Given the description of an element on the screen output the (x, y) to click on. 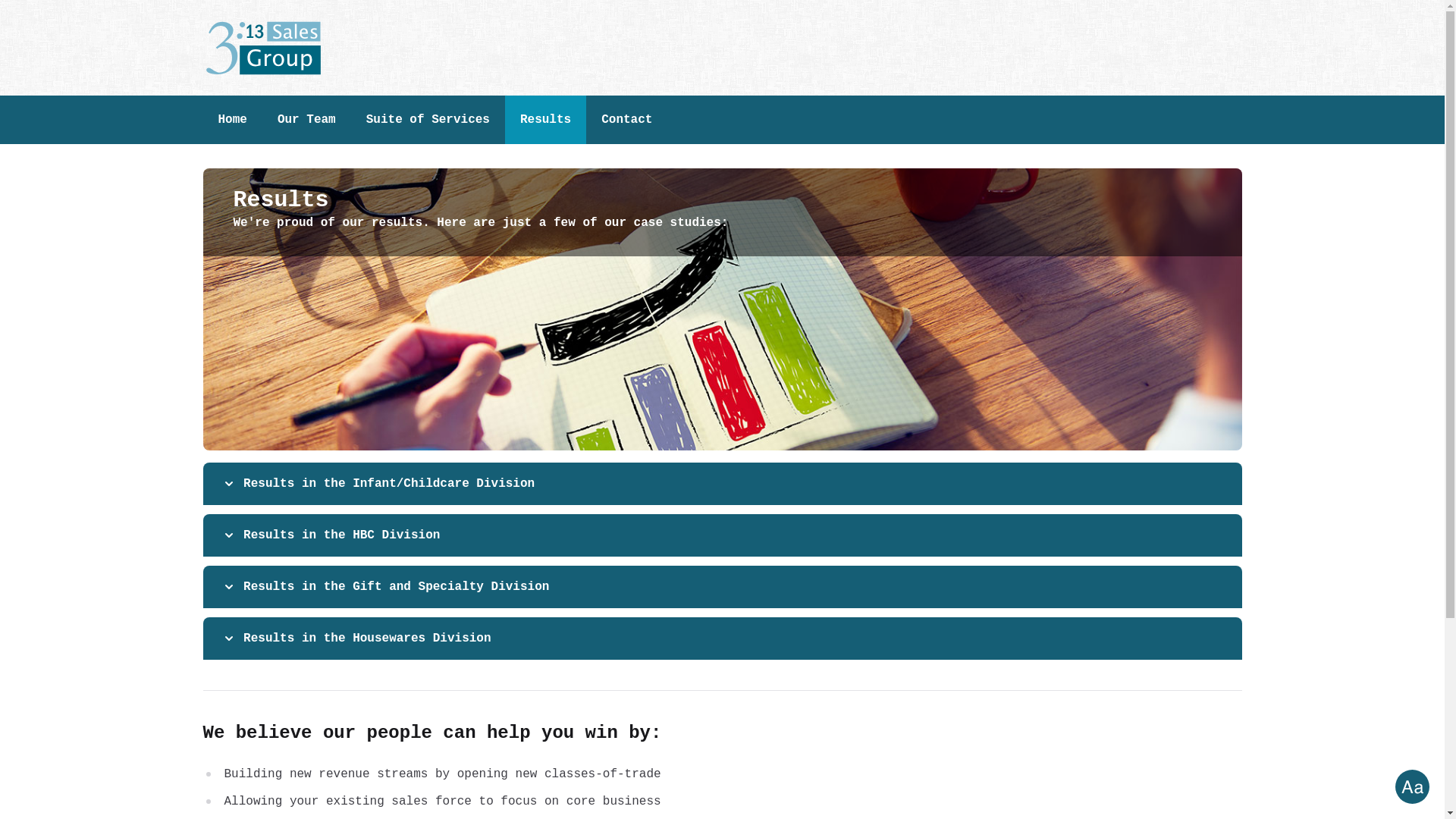
Home Element type: text (232, 119)
Results Element type: text (545, 119)
Our Team Element type: text (306, 119)
Suite of Services Element type: text (428, 119)
3:13 Sales Group Element type: hover (263, 47)
Contact Element type: text (626, 119)
